Given the description of an element on the screen output the (x, y) to click on. 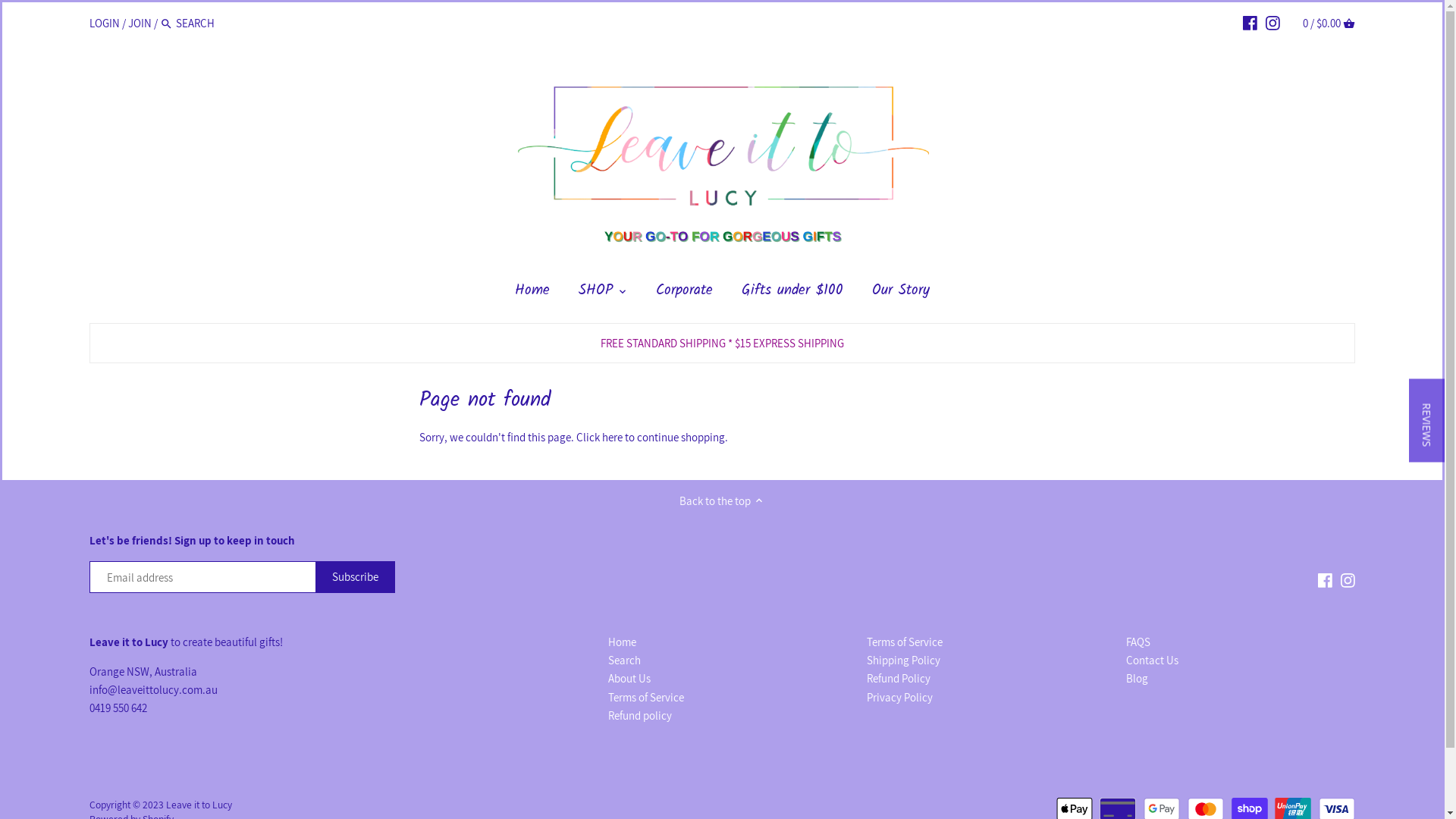
Contact Us Element type: text (1152, 660)
LOGIN Element type: text (104, 22)
Instagram Element type: text (1347, 579)
Our Story Element type: text (900, 293)
JOIN Element type: text (139, 22)
Back to the top Element type: text (722, 500)
FACEBOOK Element type: text (1249, 21)
Home Element type: text (532, 293)
Subscribe Element type: text (355, 577)
Blog Element type: text (1137, 678)
Corporate Element type: text (684, 293)
0 / $0.00 CART Element type: text (1328, 22)
Search Element type: text (166, 23)
Terms of Service Element type: text (904, 641)
About Us Element type: text (629, 678)
INSTAGRAM Element type: text (1272, 21)
SHOP Element type: text (595, 293)
Privacy Policy Element type: text (899, 697)
Search Element type: text (624, 660)
Refund policy Element type: text (639, 715)
Refund Policy Element type: text (898, 678)
Terms of Service Element type: text (646, 697)
FAQS Element type: text (1138, 641)
Gifts under $100 Element type: text (792, 293)
Home Element type: text (622, 641)
Shipping Policy Element type: text (903, 660)
Click here Element type: text (599, 436)
Facebook Element type: text (1324, 579)
Leave it to Lucy Element type: text (199, 804)
